Given the description of an element on the screen output the (x, y) to click on. 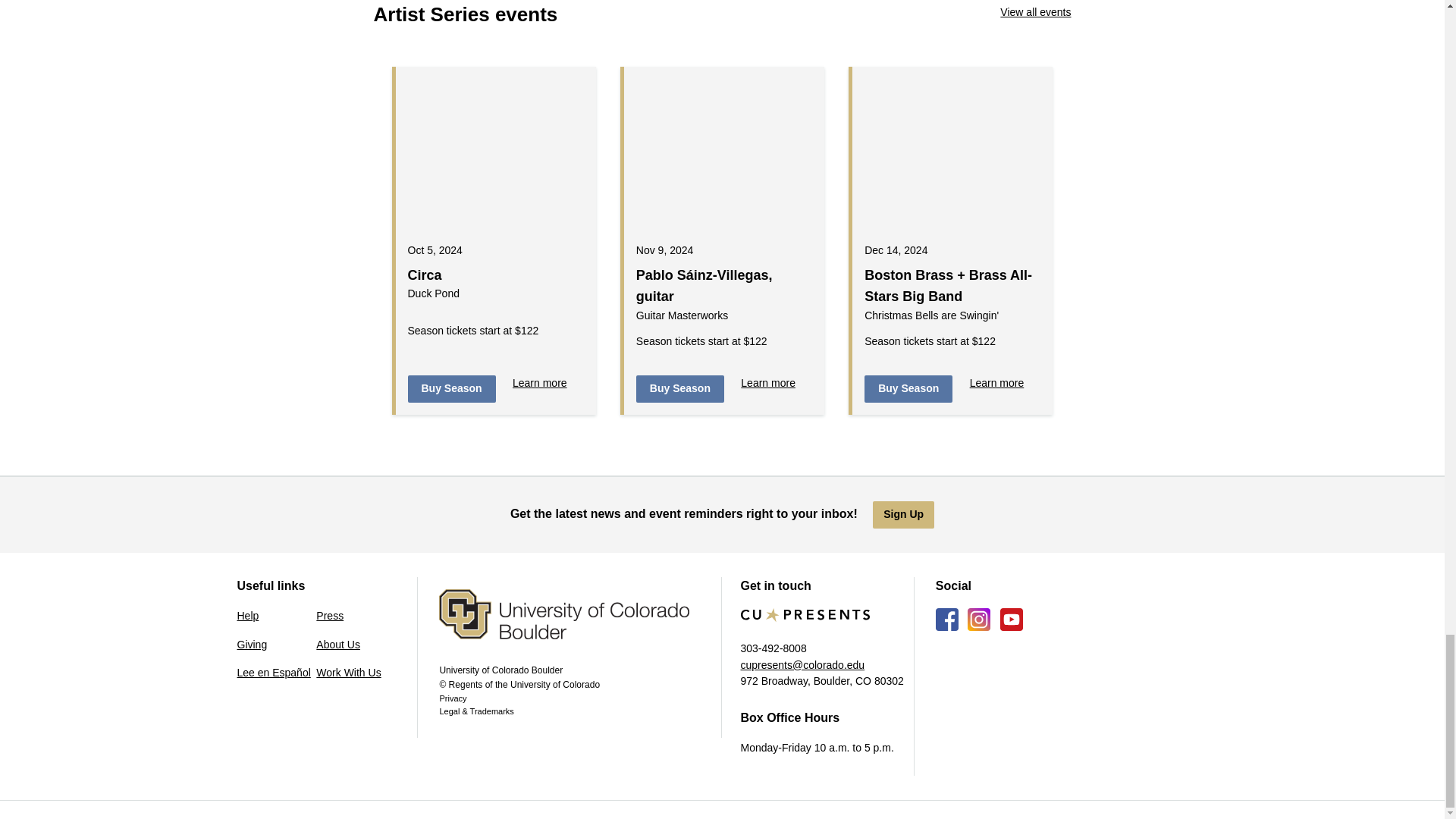
View all performances (1035, 12)
Instagram (979, 619)
Facebook (947, 619)
YouTube (1011, 619)
University of Colorado Boulder (579, 626)
